Given the description of an element on the screen output the (x, y) to click on. 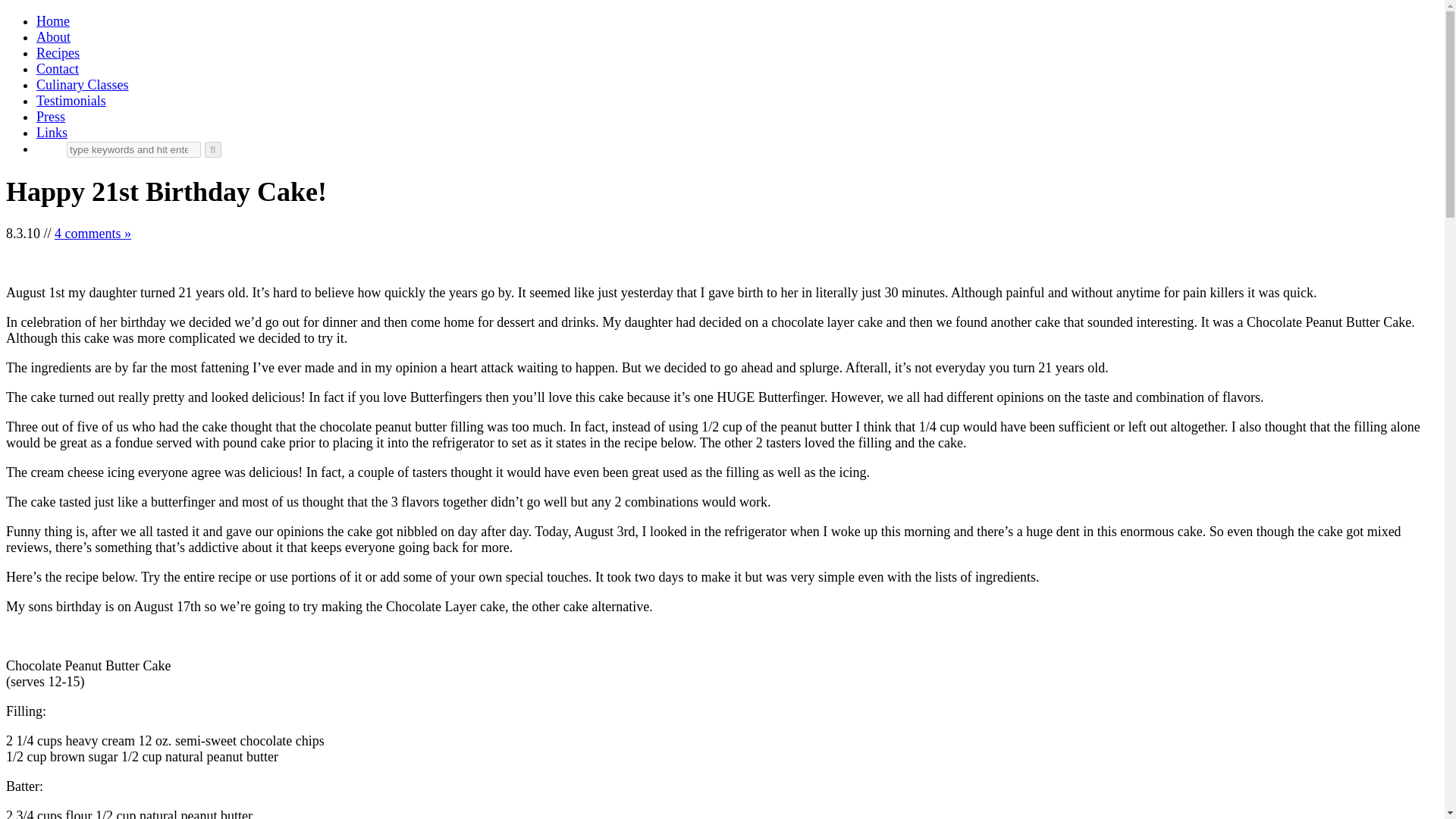
Links (51, 132)
Press (50, 116)
Recipes (58, 52)
Contact (57, 68)
Culinary Classes (82, 84)
About (52, 37)
Testimonials (71, 100)
Home (52, 20)
